Given the description of an element on the screen output the (x, y) to click on. 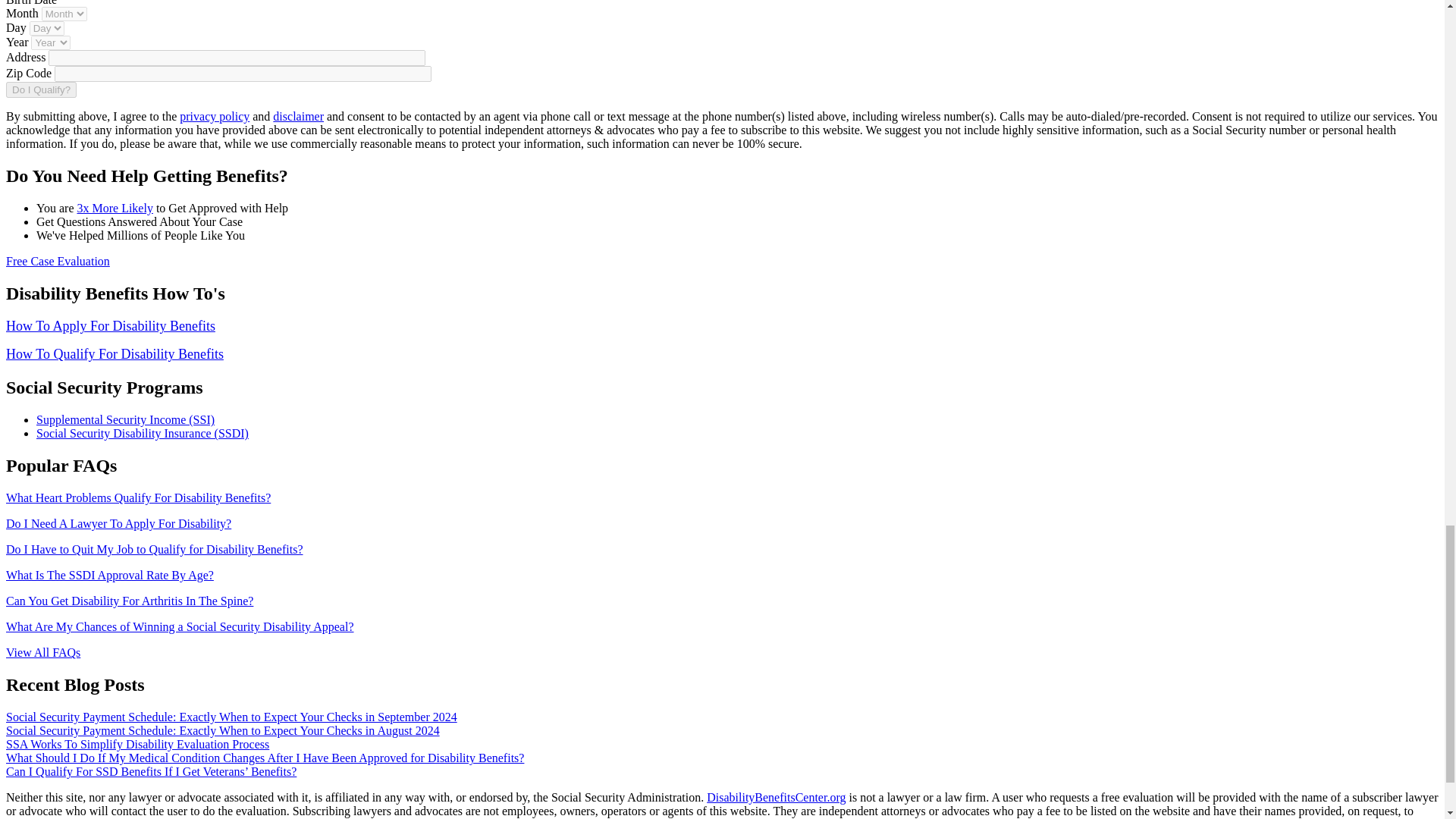
privacy policy (213, 115)
Do I Qualify? (41, 89)
Can You Get Disability For Arthritis In The Spine? (129, 600)
What Heart Problems Qualify For Disability Benefits? (137, 497)
Month (64, 13)
Day (46, 28)
disclaimer (298, 115)
What Is The SSDI Approval Rate By Age? (109, 574)
Do I Need A Lawyer To Apply For Disability? (118, 522)
3x More Likely (114, 207)
